Given the description of an element on the screen output the (x, y) to click on. 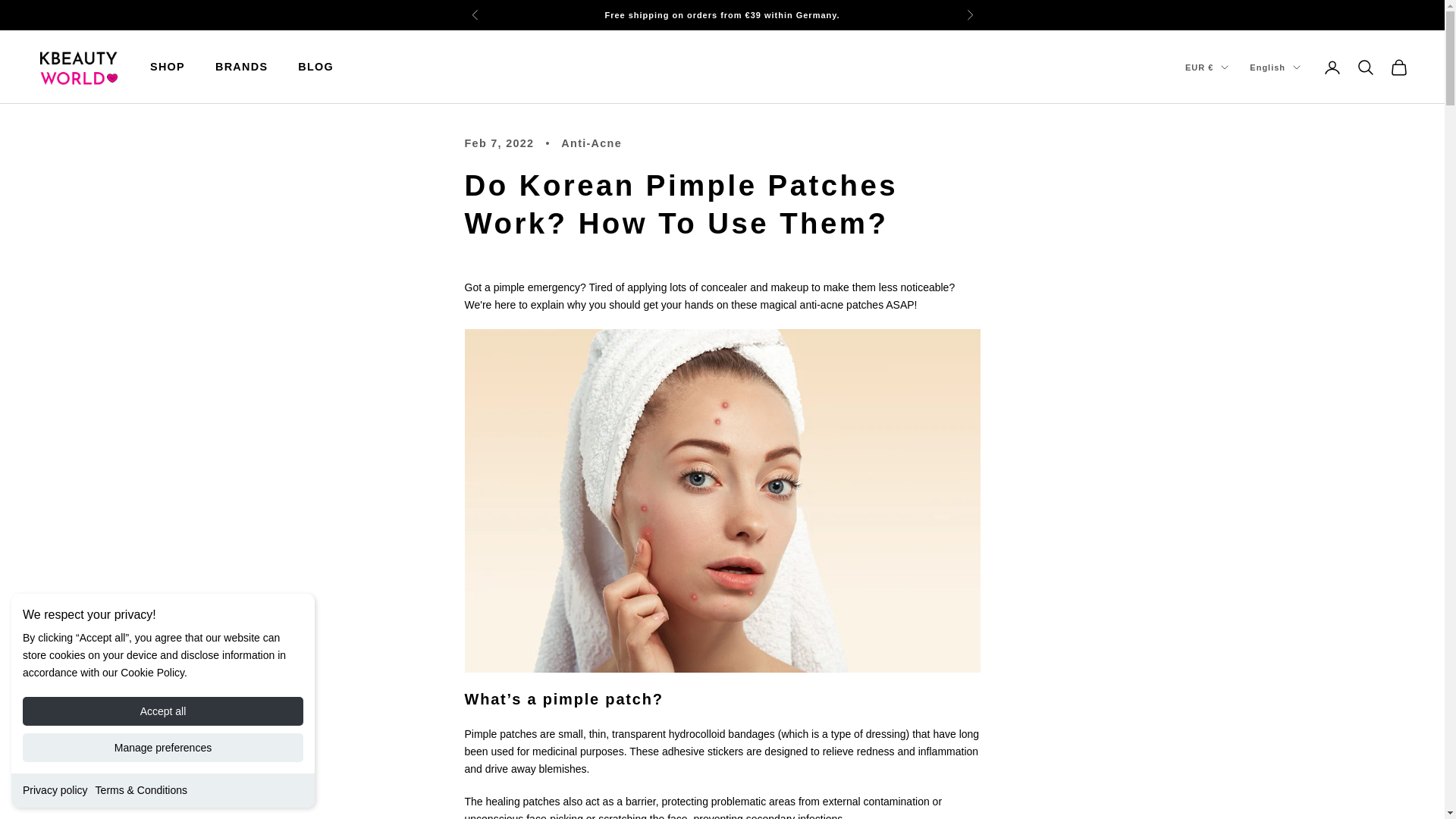
Privacy policy (55, 789)
Manage preferences (162, 747)
Accept all (162, 710)
K Beauty World (77, 67)
